Given the description of an element on the screen output the (x, y) to click on. 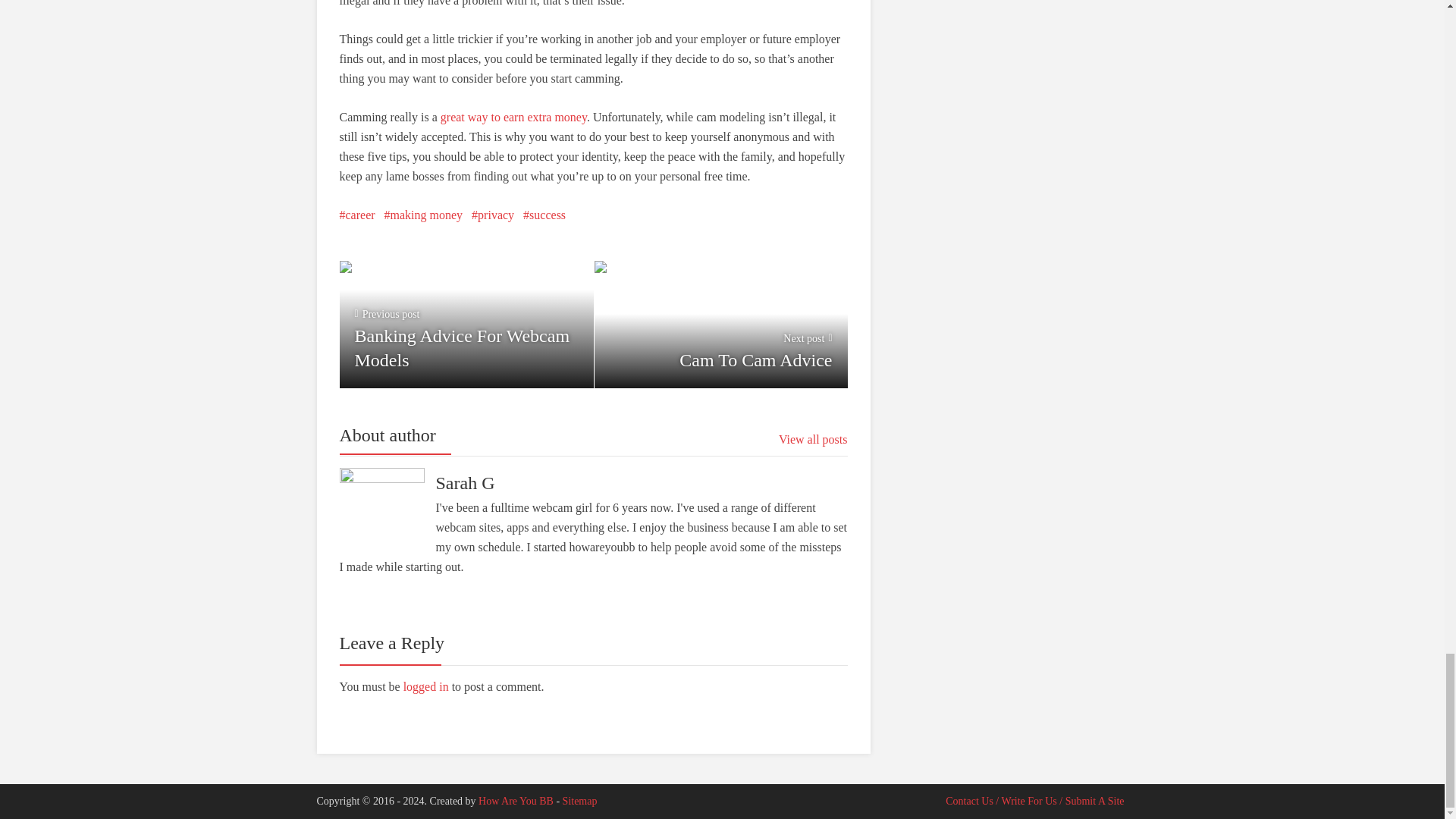
privacy (492, 215)
career (720, 321)
great way to earn extra money (357, 215)
logged in (513, 116)
success (425, 686)
Sitemap (544, 215)
View all posts (579, 800)
How Are You BB (812, 439)
making money (516, 800)
